Given the description of an element on the screen output the (x, y) to click on. 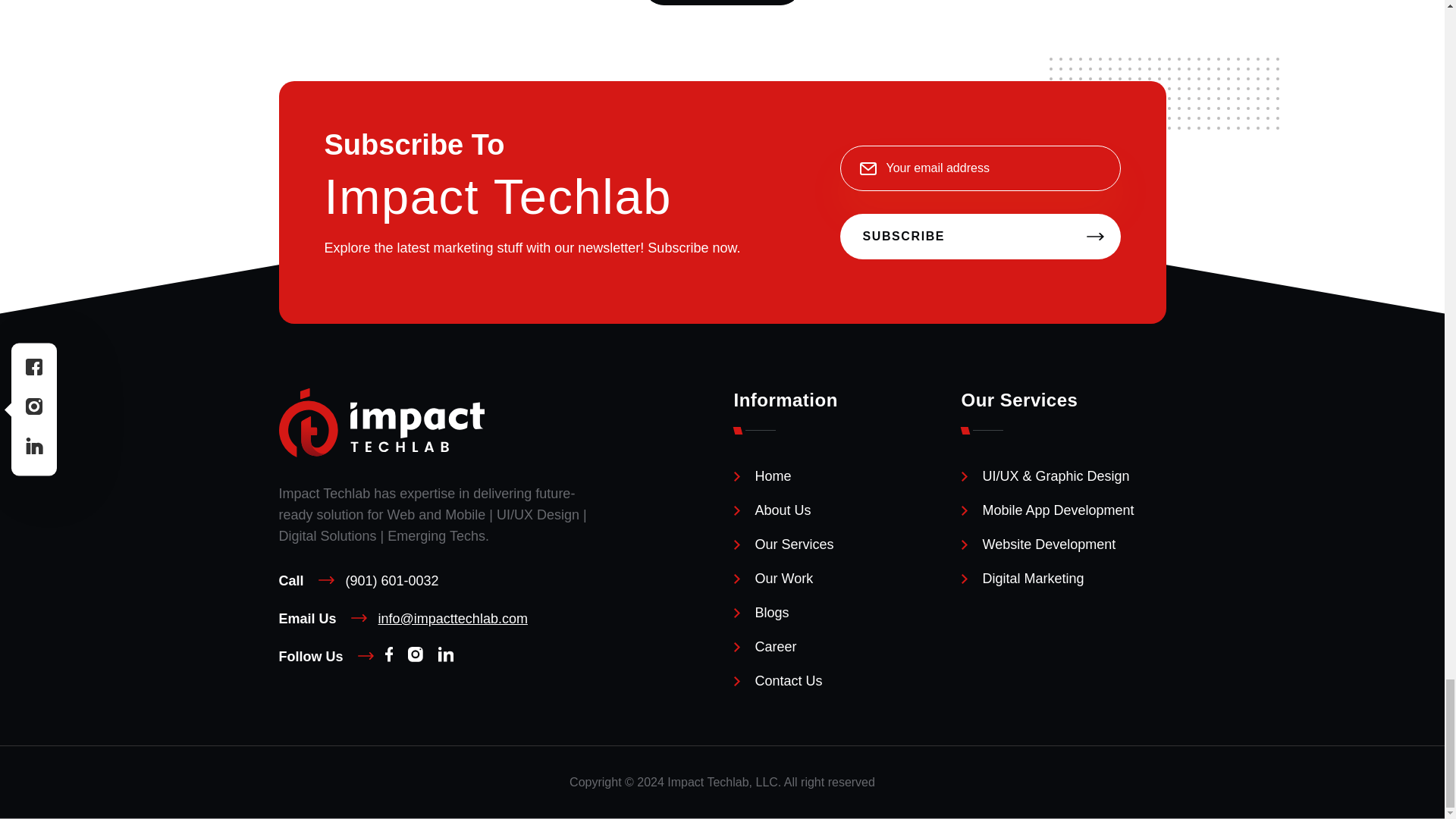
Impact Techlab (381, 452)
SUBSCRIBE (980, 236)
SUBSCRIBE (980, 236)
